Given the description of an element on the screen output the (x, y) to click on. 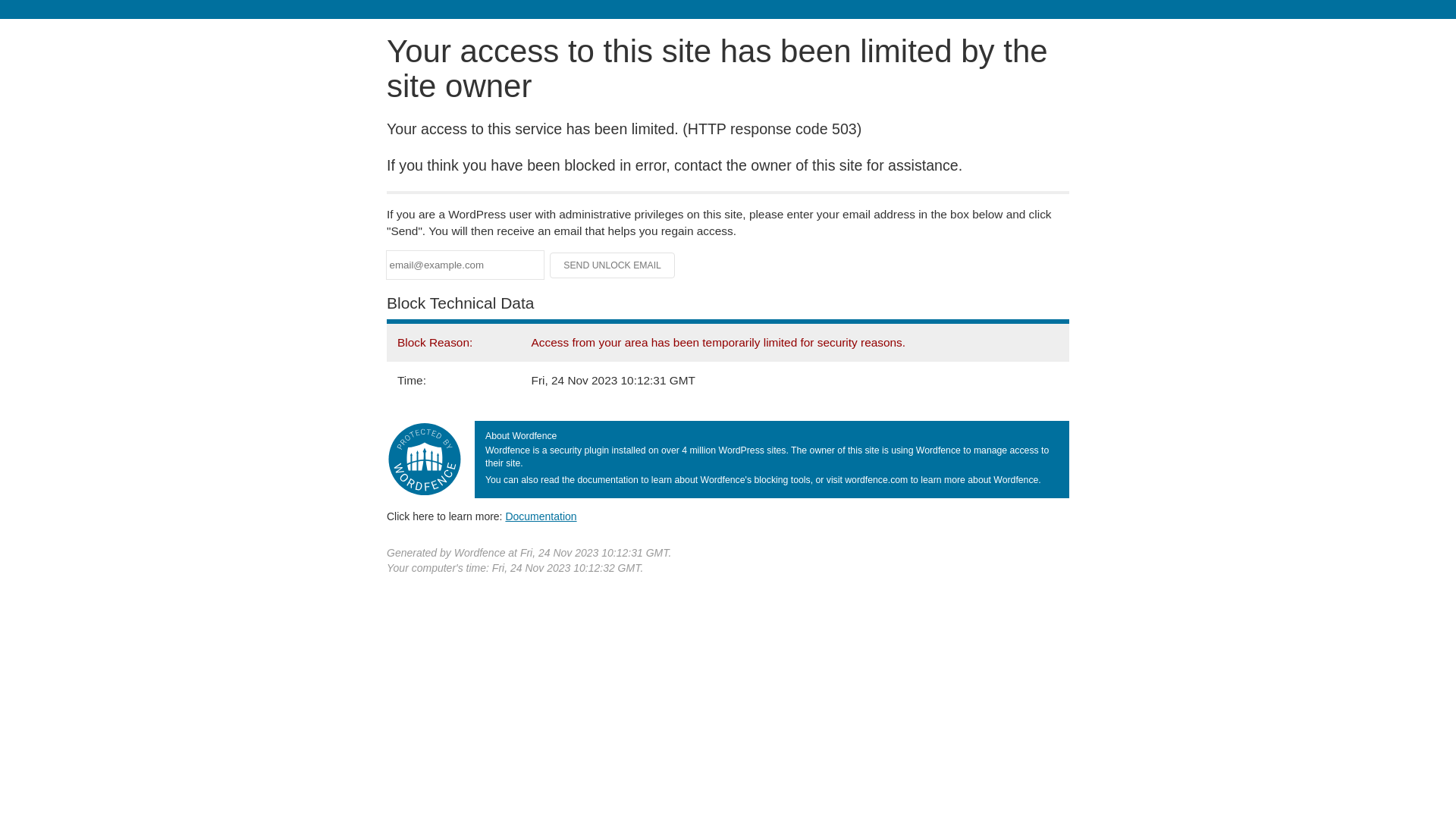
Send Unlock Email Element type: text (612, 265)
Documentation Element type: text (540, 516)
